Given the description of an element on the screen output the (x, y) to click on. 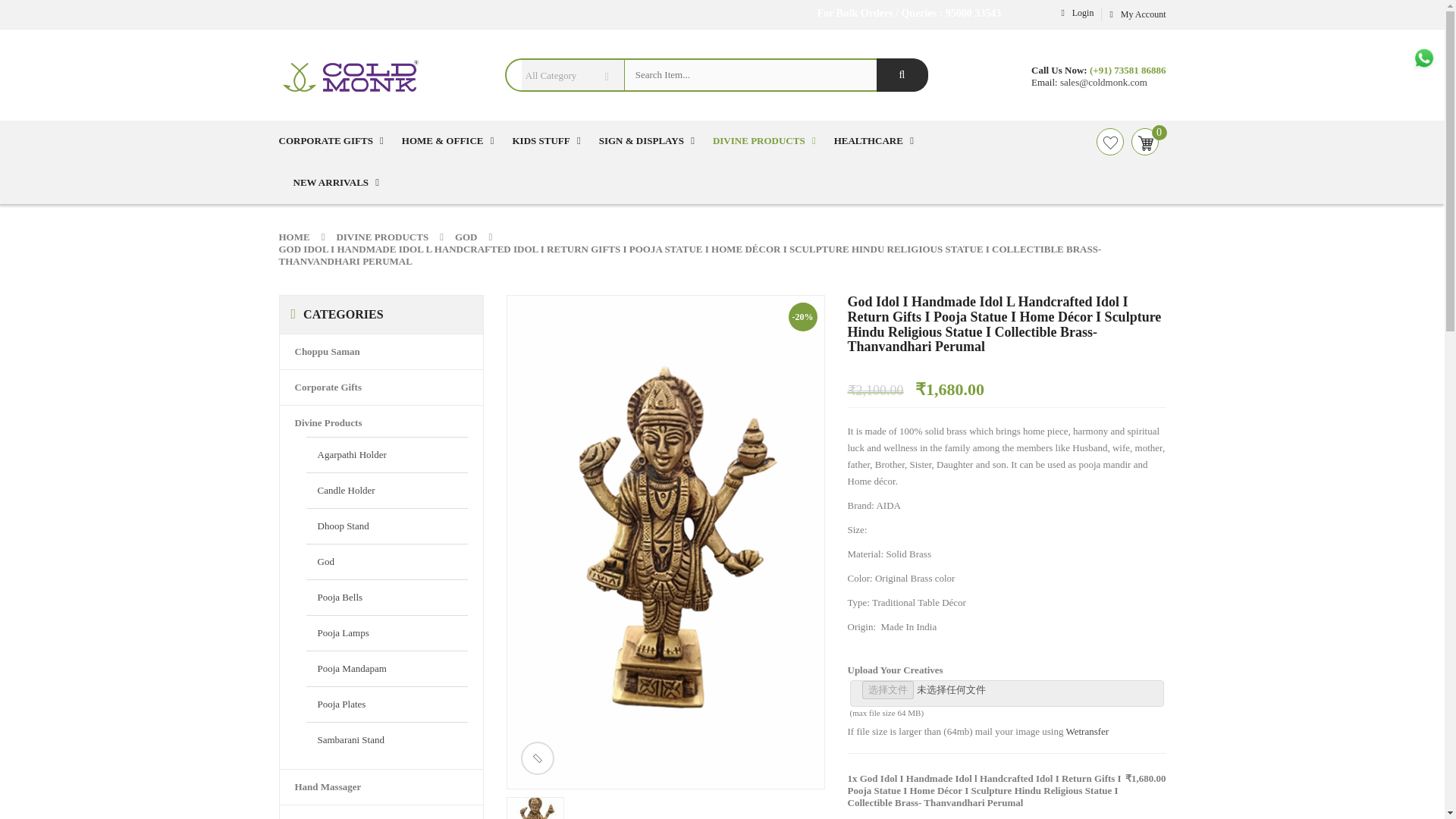
Login (1074, 12)
